Given the description of an element on the screen output the (x, y) to click on. 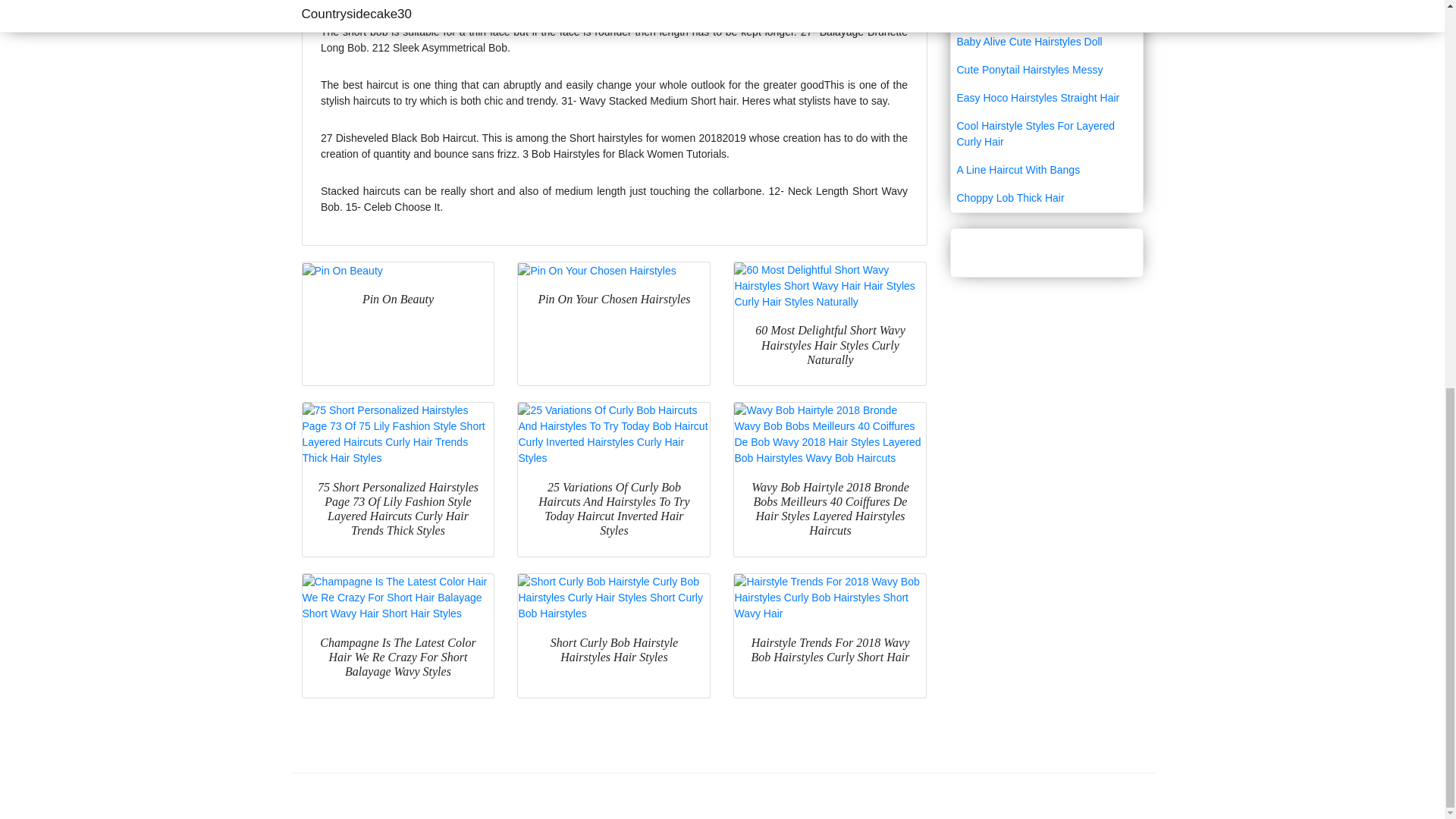
Ethnic Hairstyles For Long Hair (1046, 13)
